Given the description of an element on the screen output the (x, y) to click on. 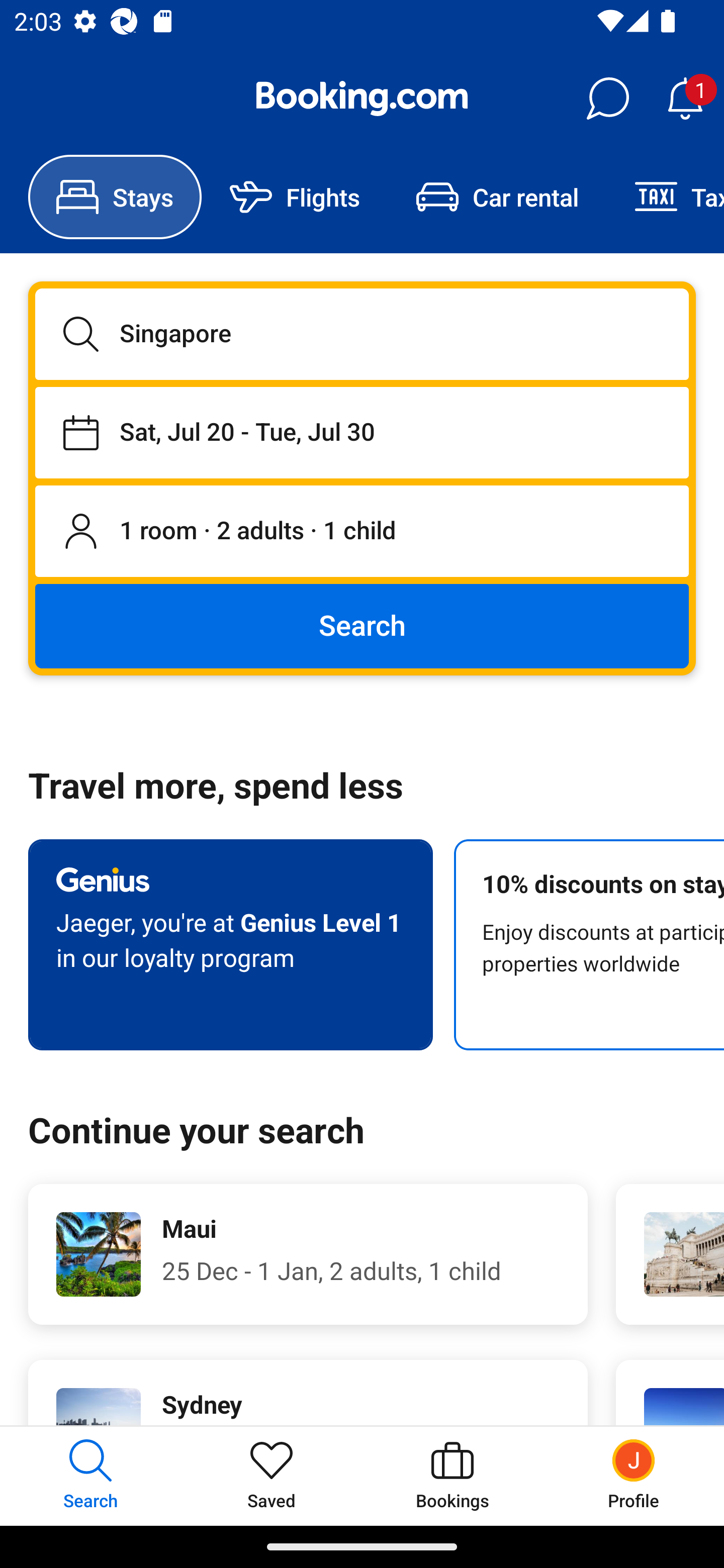
Messages (607, 98)
Notifications (685, 98)
Stays (114, 197)
Flights (294, 197)
Car rental (497, 197)
Taxi (665, 197)
Singapore (361, 333)
Staying from Sat, Jul 20 until Tue, Jul 30 (361, 432)
1 room, 2 adults, 1 child (361, 531)
Search (361, 625)
Maui 25 Dec - 1 Jan, 2 adults, 1 child (307, 1253)
Saved (271, 1475)
Bookings (452, 1475)
Profile (633, 1475)
